Given the description of an element on the screen output the (x, y) to click on. 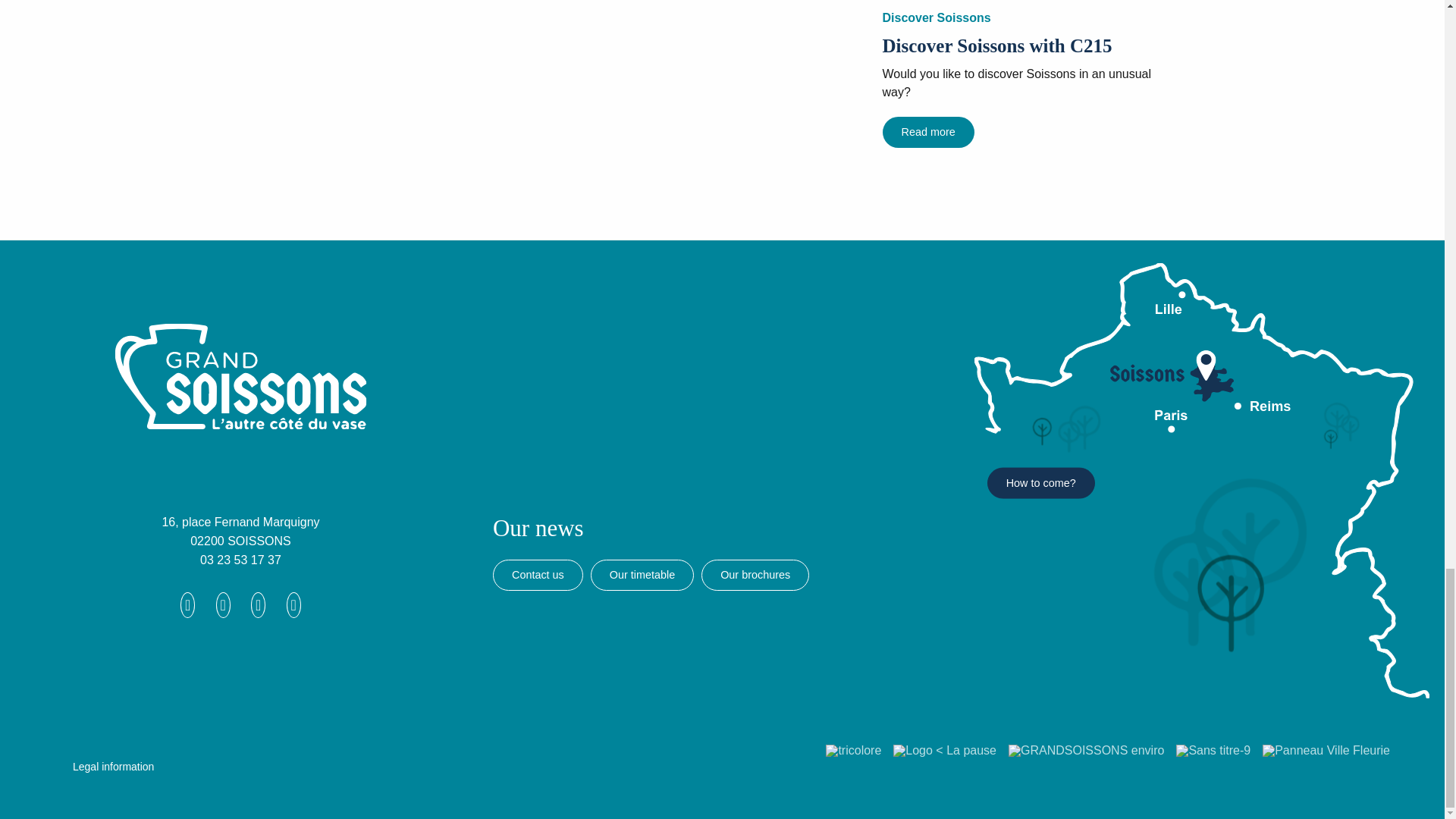
Legal information (113, 766)
Suivez-nous sur Facebook !  (187, 604)
Legal information (113, 766)
How to come? (1040, 482)
Contact us (538, 574)
Our timetable (642, 574)
Suivez-nous sur Youtube !  (293, 604)
Our brochures (755, 574)
Contact us (538, 574)
Grand Tourisme Soissons (198, 419)
Suivez-nous sur Instagram !  (222, 604)
Suivez-nous sur Twitter ! (257, 604)
Our timetable (642, 574)
